Given the description of an element on the screen output the (x, y) to click on. 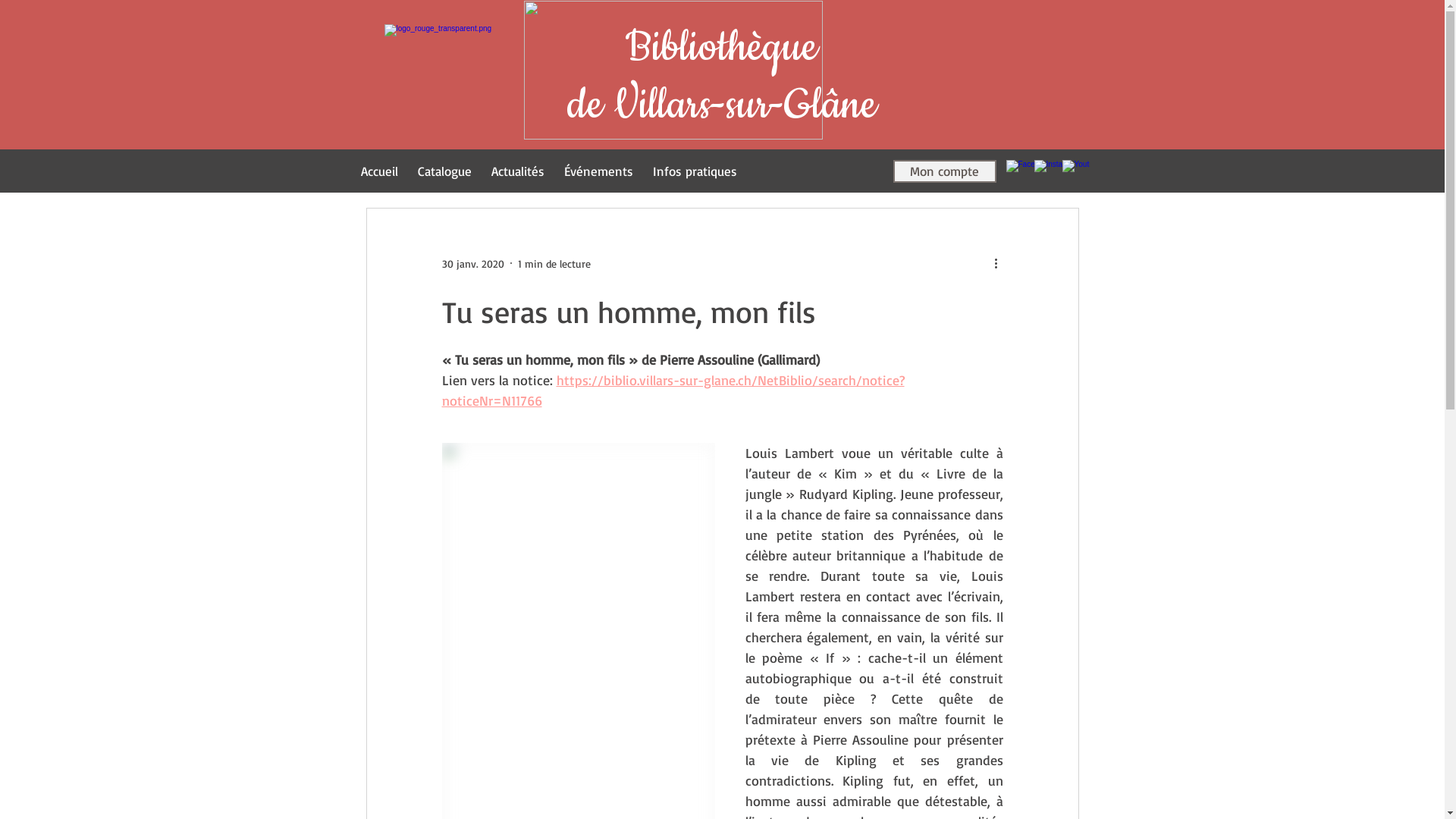
Infos pratiques Element type: text (694, 171)
Catalogue Element type: text (444, 171)
Mon compte Element type: text (944, 171)
Accueil Element type: text (378, 171)
